Given the description of an element on the screen output the (x, y) to click on. 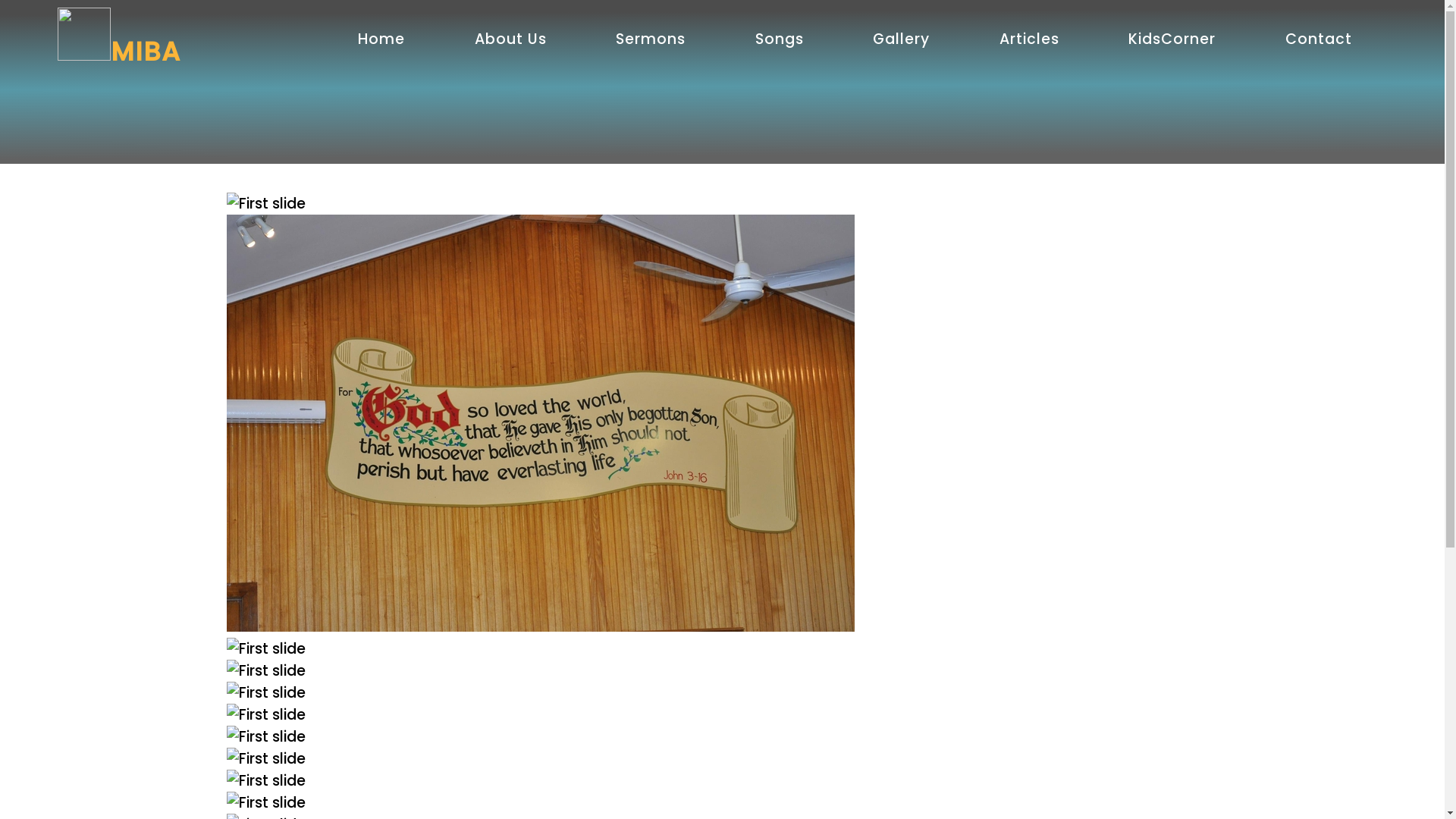
About Us Element type: text (510, 39)
Songs Element type: text (779, 39)
Gallery Element type: text (900, 39)
KidsCorner Element type: text (1171, 39)
Home Element type: text (380, 39)
Articles Element type: text (1029, 39)
Sermons Element type: text (650, 39)
MIBA Element type: text (118, 51)
Contact Element type: text (1318, 39)
